Given the description of an element on the screen output the (x, y) to click on. 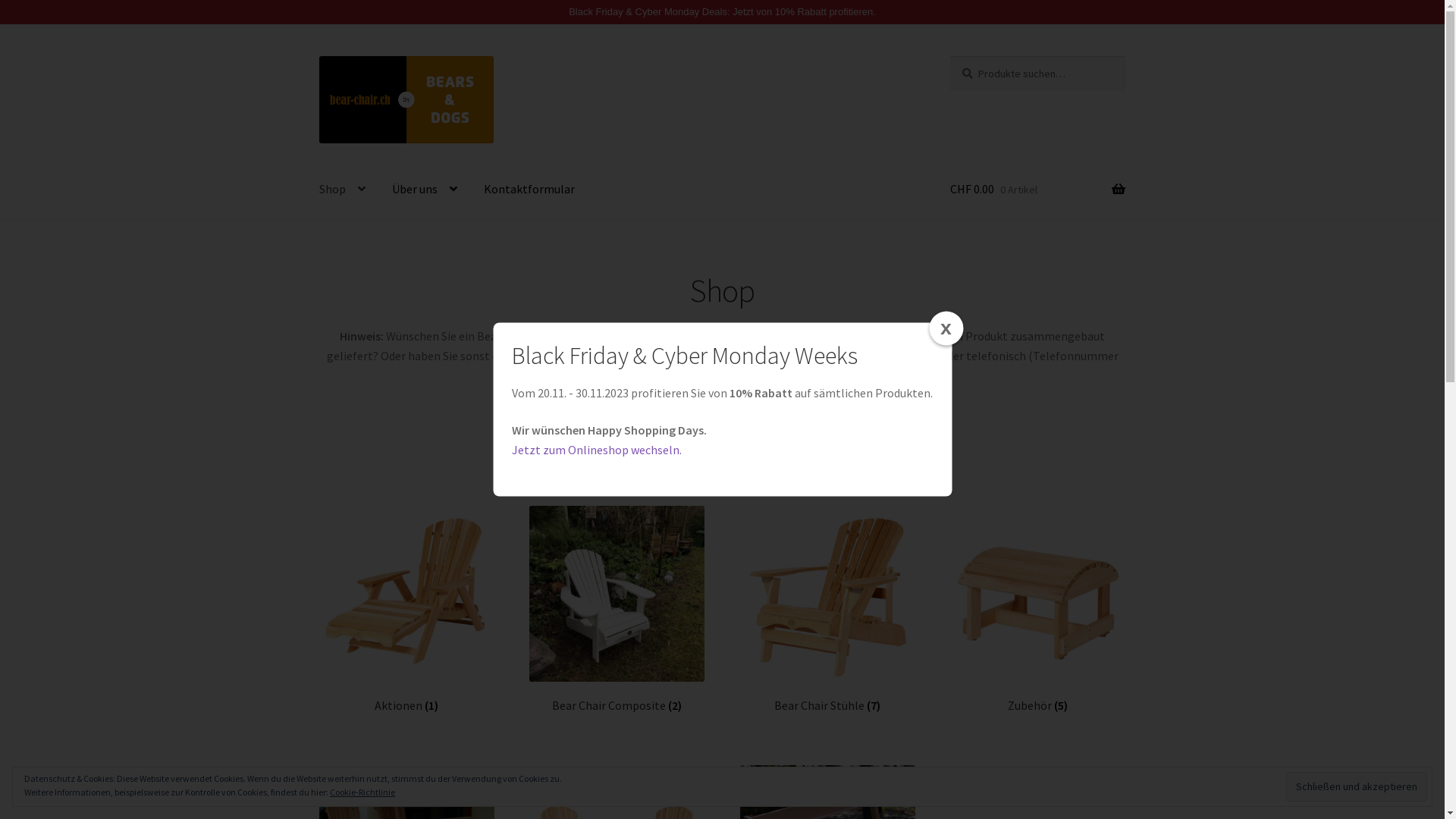
Kontaktformular Element type: text (891, 355)
Jetzt zum Onlineshop wechseln. Element type: text (596, 449)
Bear Chair Composite (2) Element type: text (616, 608)
Zur Navigation springen Element type: text (318, 55)
Suche Element type: text (949, 55)
Cookie-Richtlinie Element type: text (362, 791)
Kontaktformular Element type: text (528, 189)
Aktionen (1) Element type: text (406, 608)
CHF 0.00 0 Artikel Element type: text (1037, 189)
Shop Element type: text (342, 189)
